Given the description of an element on the screen output the (x, y) to click on. 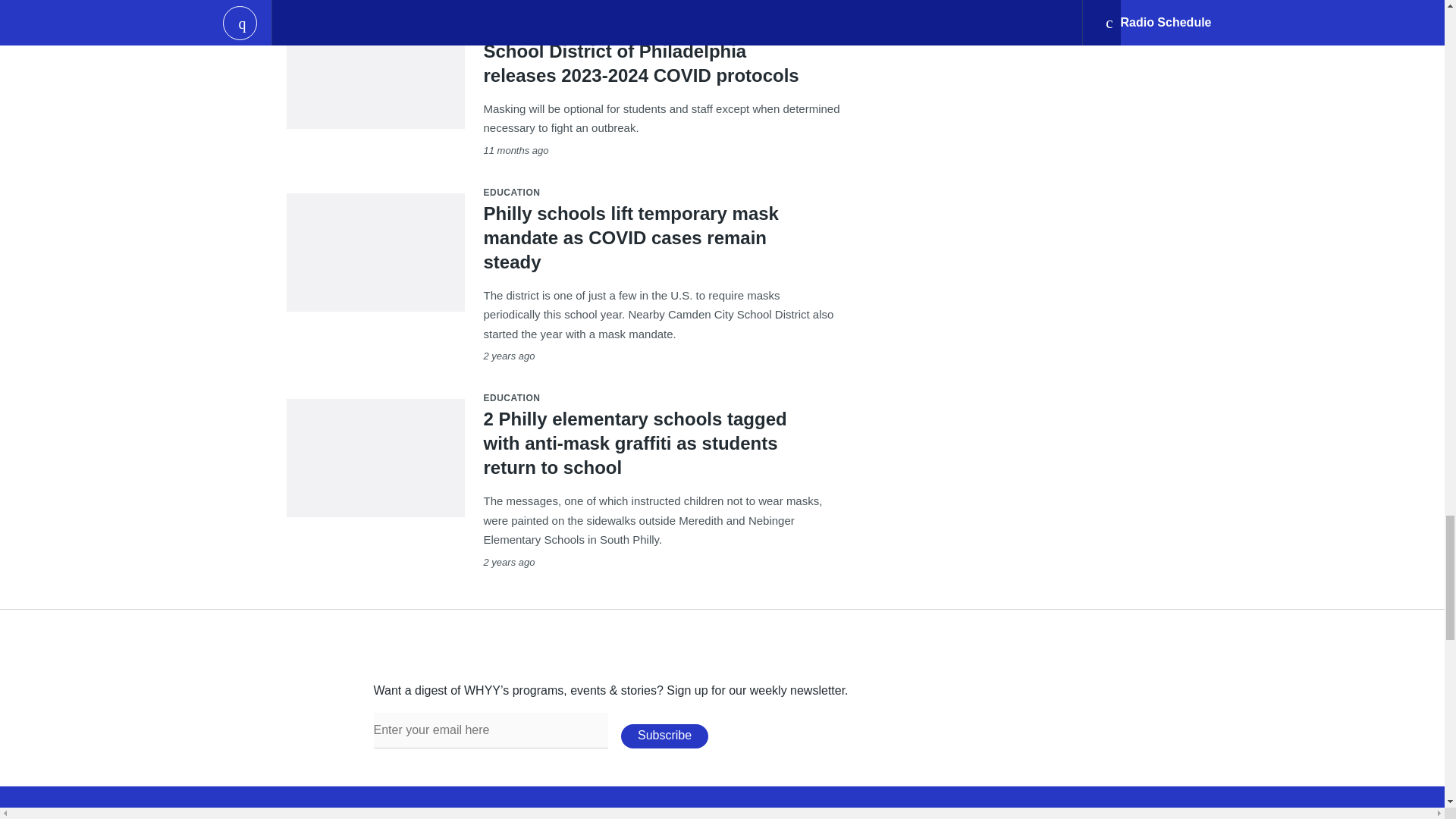
Subscribe (664, 735)
